Given the description of an element on the screen output the (x, y) to click on. 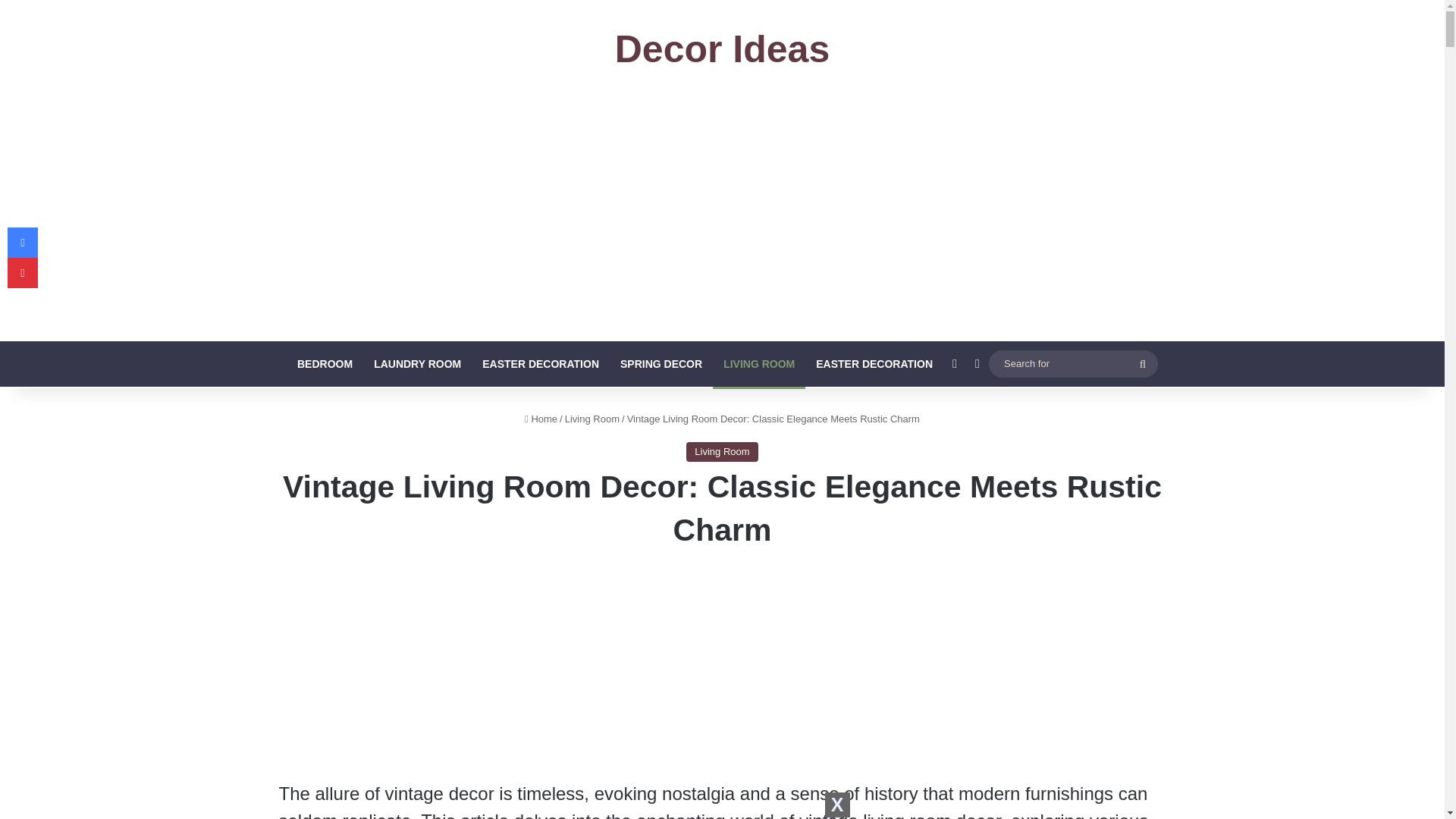
LAUNDRY ROOM (416, 363)
Search for (1072, 363)
Home (540, 419)
Living Room (592, 419)
EASTER DECORATION (540, 363)
Decor Ideas (721, 48)
Pinterest (22, 272)
BEDROOM (324, 363)
Facebook (22, 242)
SPRING DECOR (661, 363)
Living Room (721, 451)
EASTER DECORATION (874, 363)
LIVING ROOM (759, 363)
Search for (1141, 363)
